Given the description of an element on the screen output the (x, y) to click on. 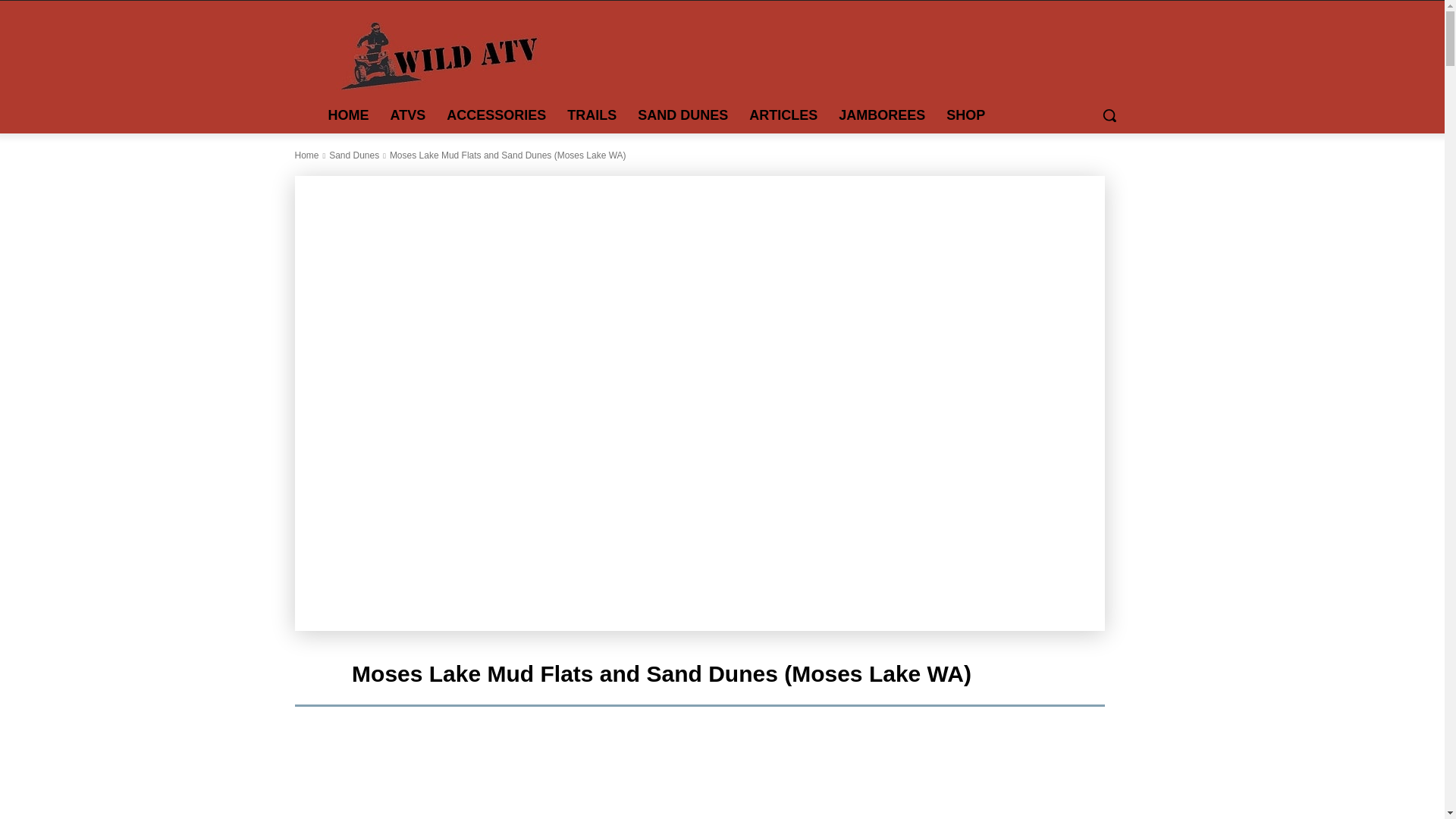
Sand Dunes (353, 154)
HOME (347, 115)
View all posts in Sand Dunes (353, 154)
SHOP (965, 115)
Home (306, 154)
ACCESSORIES (495, 115)
JAMBOREES (882, 115)
SAND DUNES (682, 115)
ATVS (406, 115)
ARTICLES (783, 115)
